Given the description of an element on the screen output the (x, y) to click on. 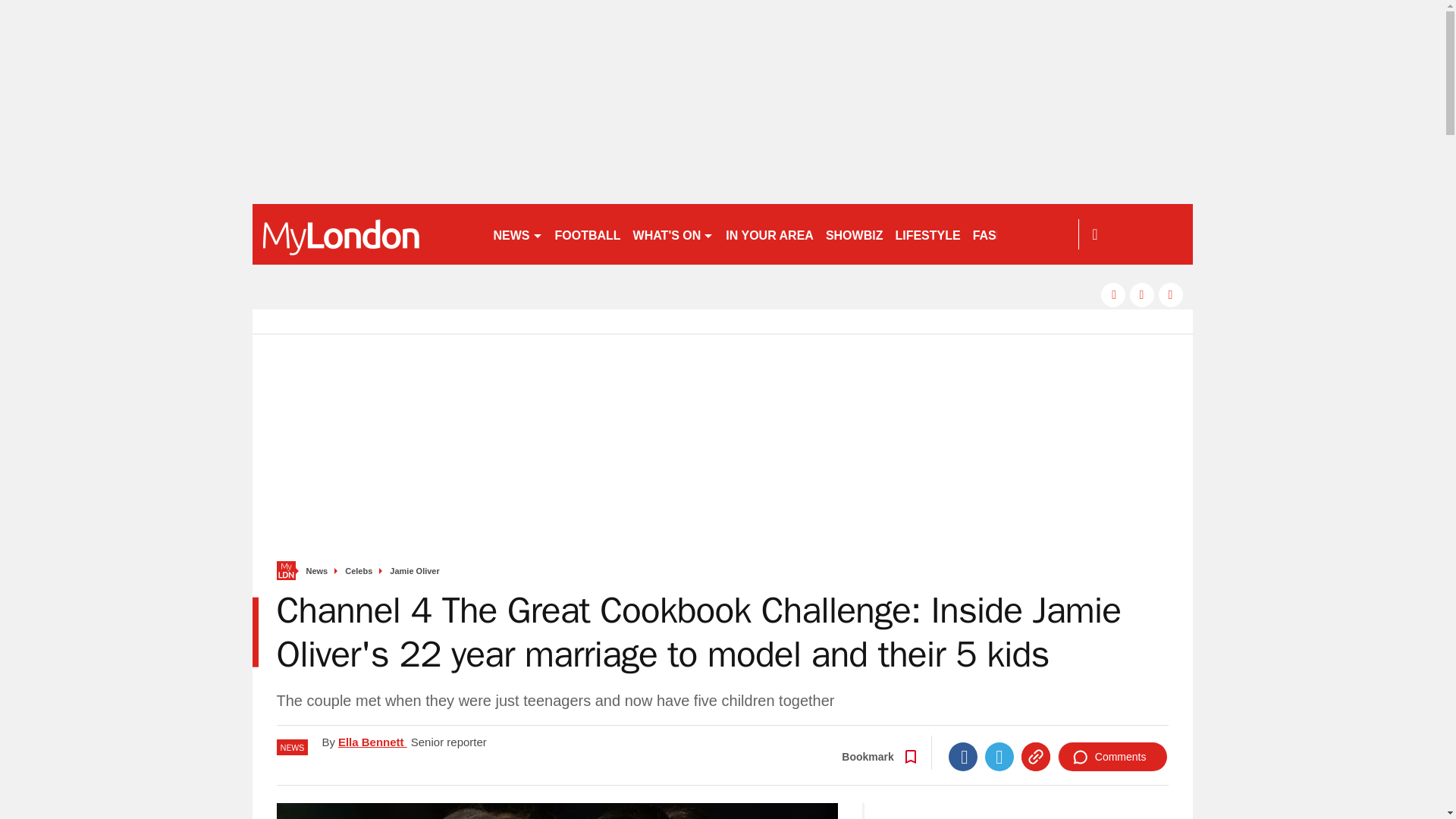
WHAT'S ON (673, 233)
SHOWBIZ (854, 233)
Facebook (962, 756)
twitter (1141, 294)
getwestlondon (365, 233)
FOOTBALL (587, 233)
Comments (1112, 756)
NEWS (517, 233)
Twitter (999, 756)
facebook (1112, 294)
IN YOUR AREA (769, 233)
LIFESTYLE (927, 233)
instagram (1170, 294)
